Given the description of an element on the screen output the (x, y) to click on. 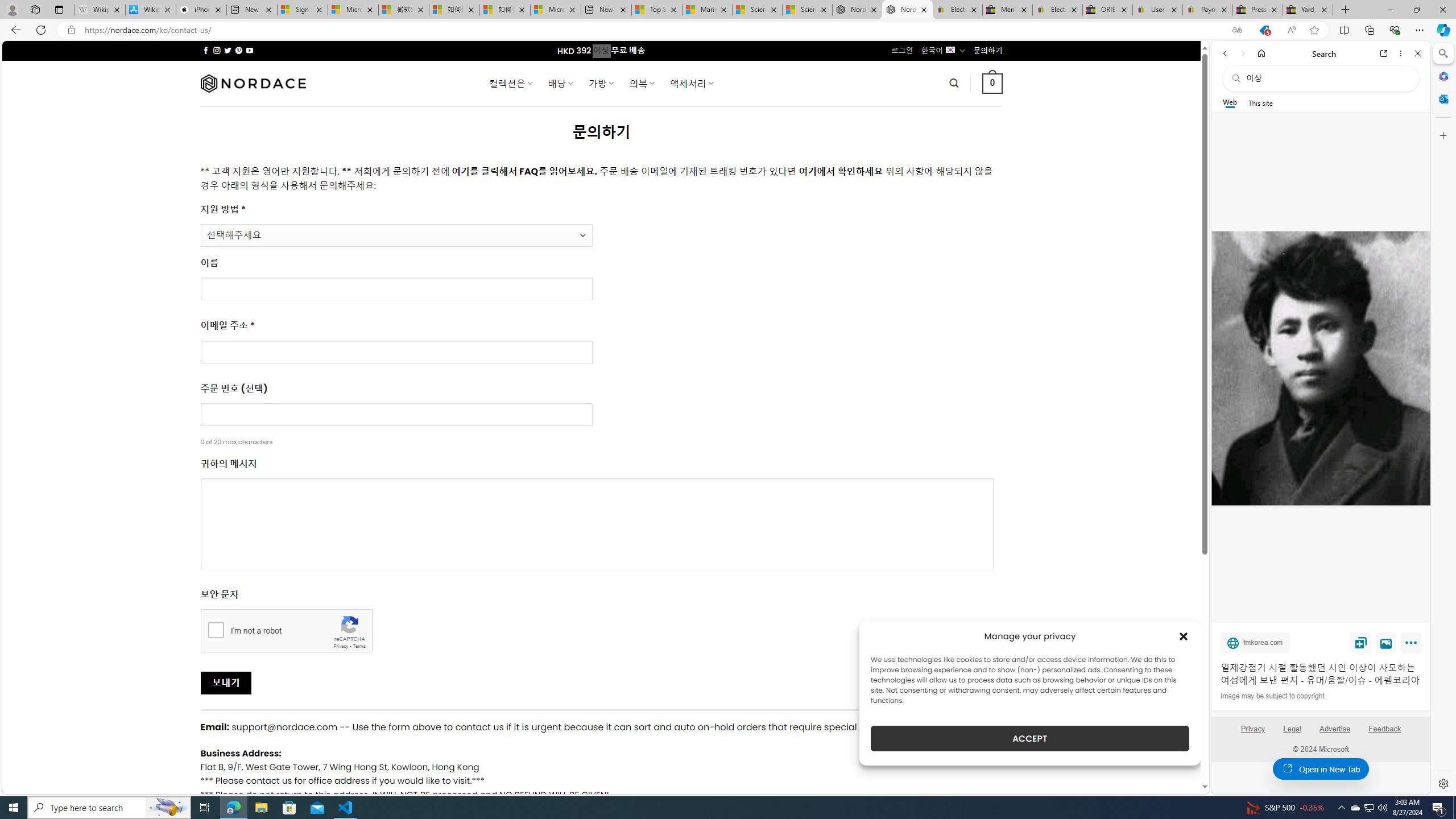
Follow on Twitter (227, 50)
More (1413, 644)
Electronics, Cars, Fashion, Collectibles & More | eBay (1057, 9)
Follow on Instagram (216, 50)
Web scope (1230, 102)
Legal (1292, 733)
Follow on Facebook (205, 50)
